Given the description of an element on the screen output the (x, y) to click on. 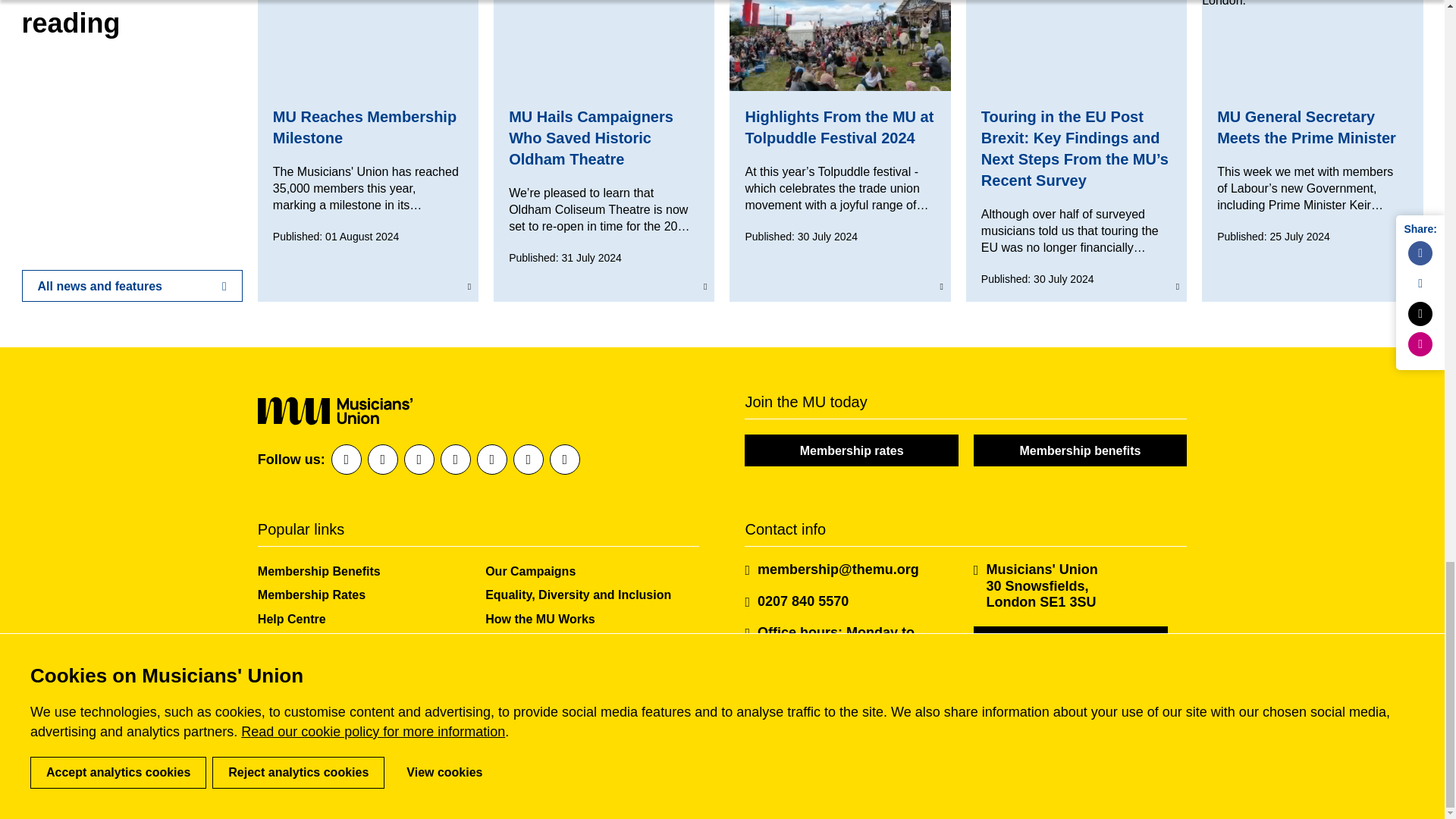
Instagram (455, 459)
TikTok (564, 459)
LinkedIn (382, 459)
X (418, 459)
Facebook (346, 459)
Spotify (491, 459)
YouTube (528, 459)
